Given the description of an element on the screen output the (x, y) to click on. 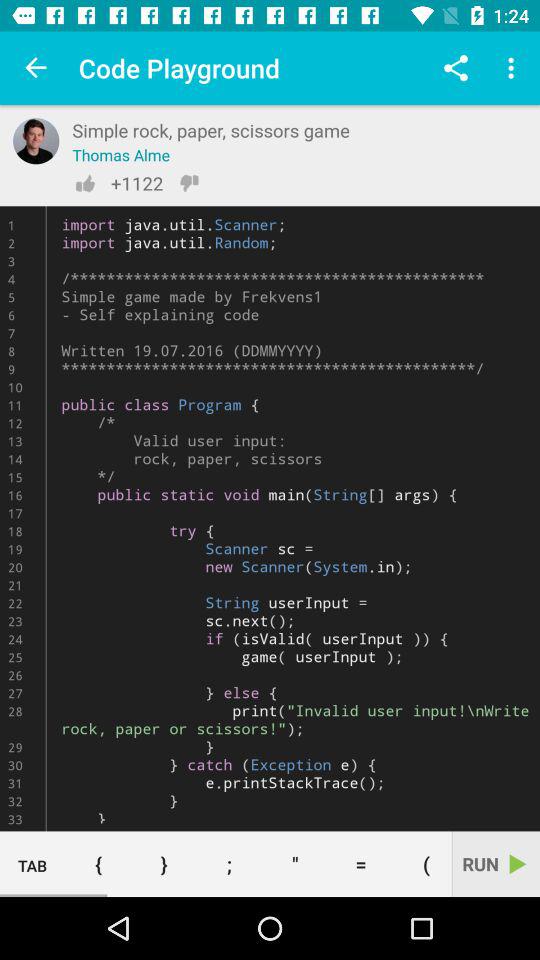
open the { icon (98, 863)
